Given the description of an element on the screen output the (x, y) to click on. 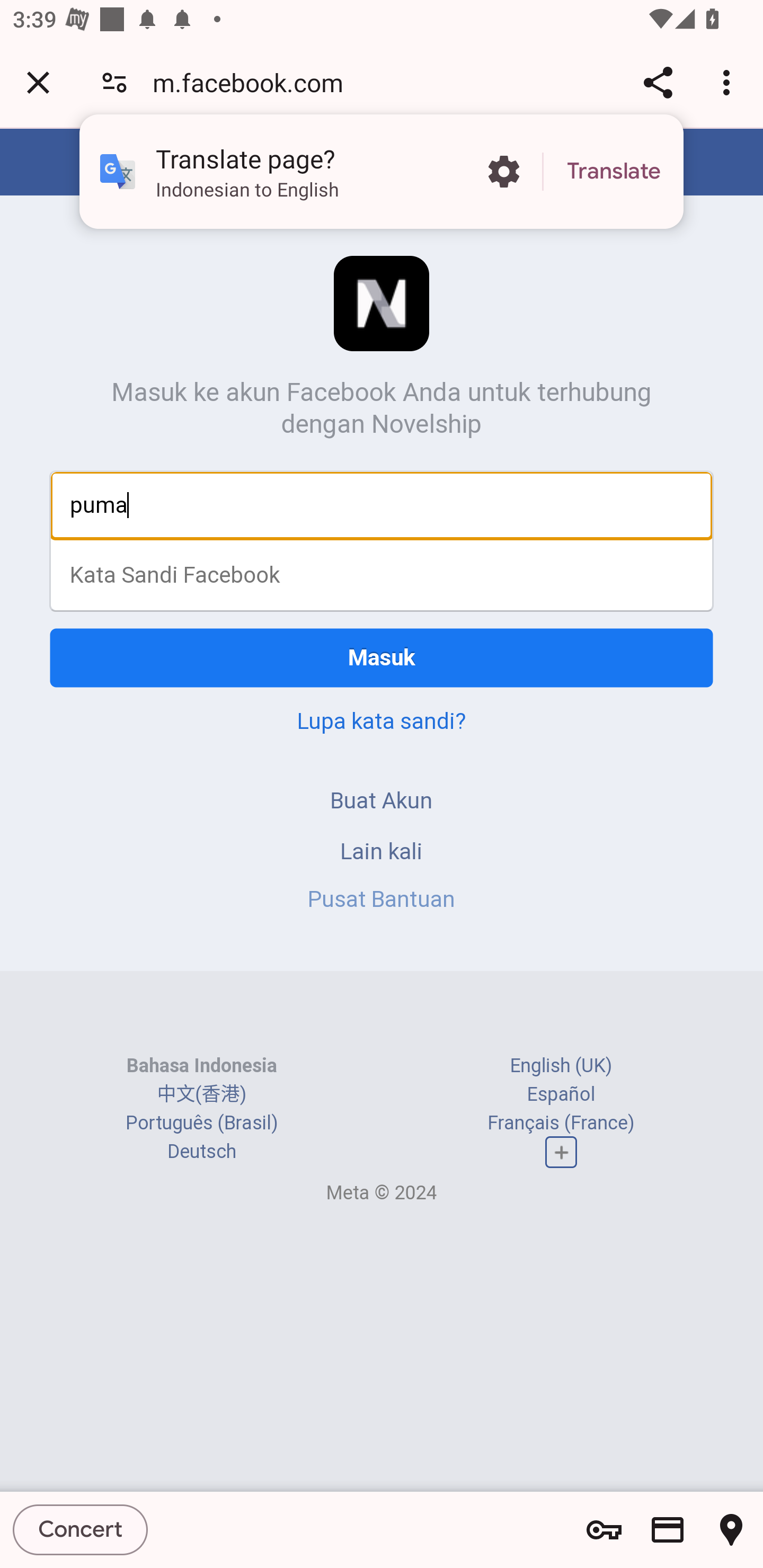
Close tab (38, 82)
Share (657, 82)
Customize and control Google Chrome (729, 82)
Connection is secure (114, 81)
m.facebook.com (254, 81)
Translate (613, 171)
More options in the Translate page? (503, 171)
puma (381, 505)
Masuk (381, 657)
Lupa kata sandi? (381, 720)
Buat Akun (381, 800)
Lain kali (381, 850)
Pusat Bantuan (381, 898)
English (UK) (560, 1065)
中文(香港) (201, 1093)
Español (560, 1093)
Português (Brasil) (201, 1122)
Français (France) (560, 1122)
Daftar bahasa lengkap (560, 1152)
Deutsch (201, 1151)
Concert (80, 1529)
Show saved passwords and password options (603, 1530)
Show saved payment methods (667, 1530)
Show saved addresses (731, 1530)
